Given the description of an element on the screen output the (x, y) to click on. 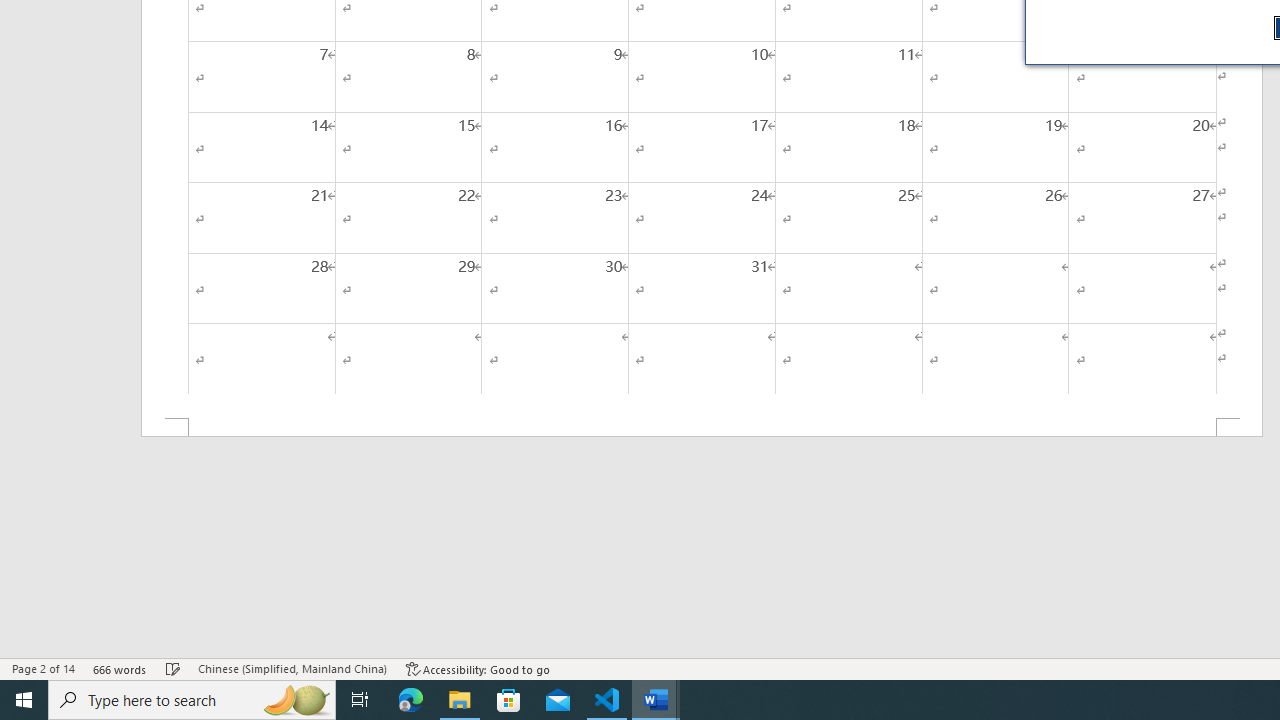
Task View (359, 699)
Microsoft Edge (411, 699)
